Given the description of an element on the screen output the (x, y) to click on. 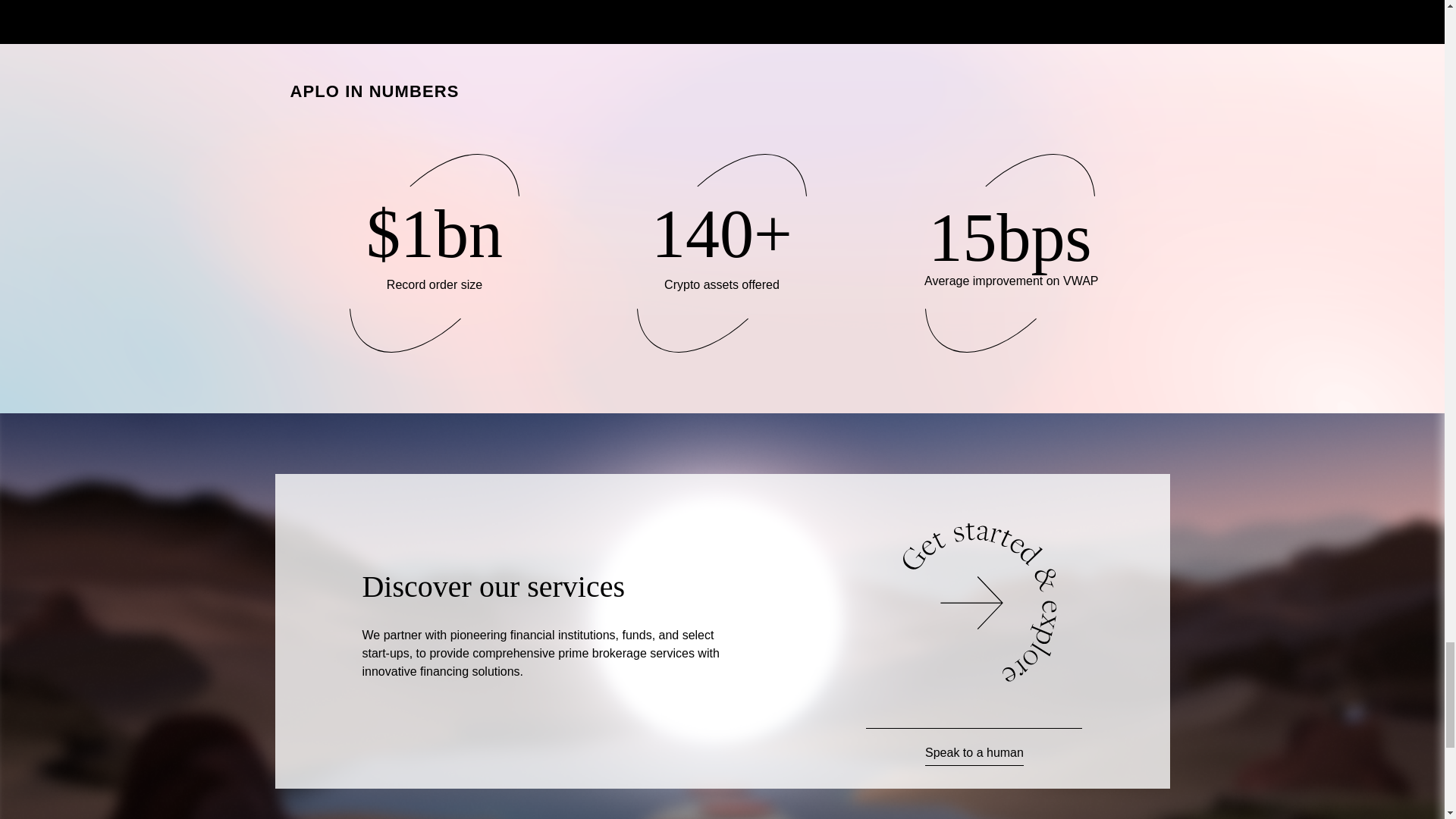
Speak to a human (973, 754)
